Given the description of an element on the screen output the (x, y) to click on. 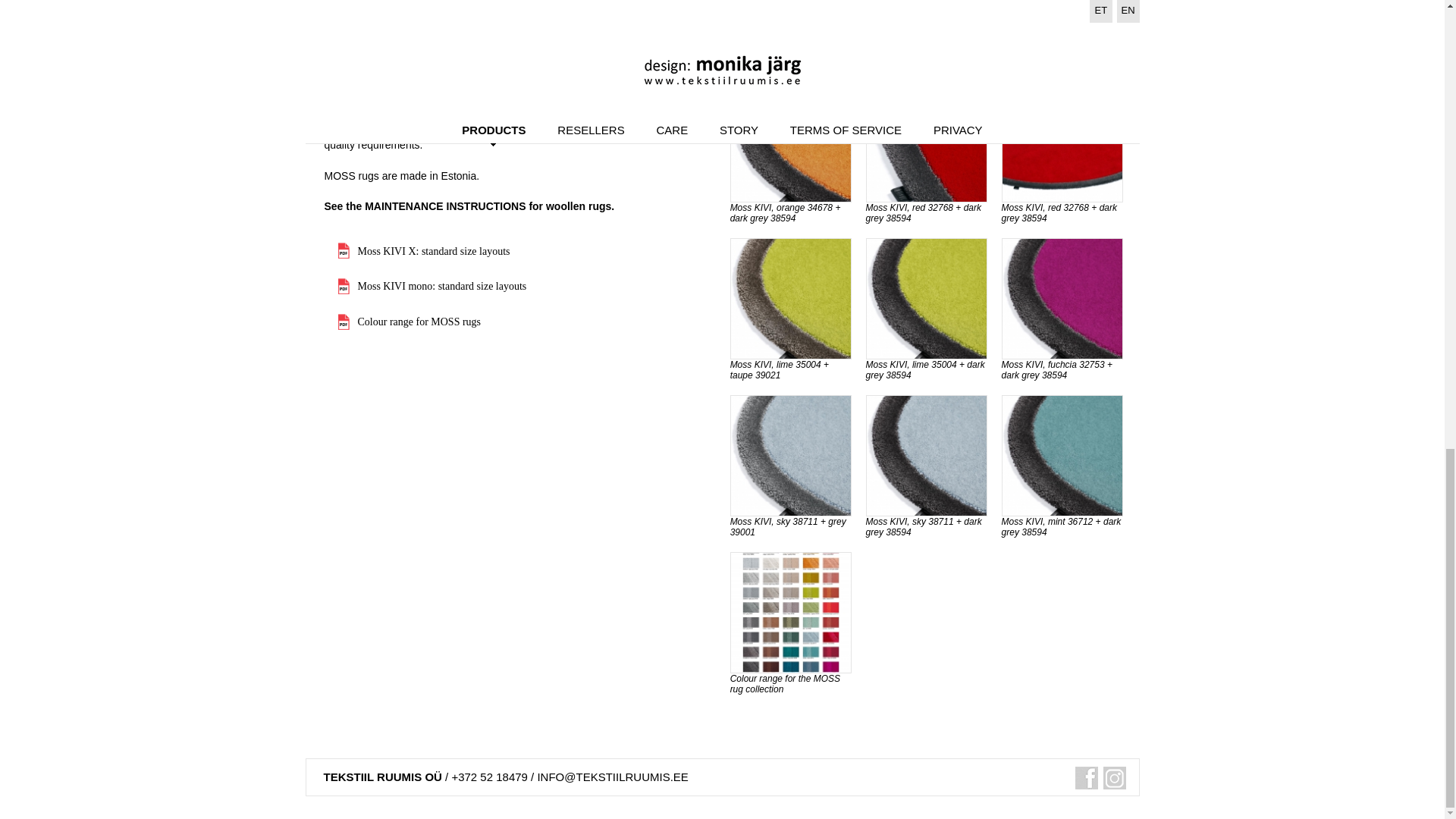
Colour range for MOSS rugs (409, 321)
Moss KIVI mono: standard size layouts (432, 286)
Moss KIVI X: standard size layouts (424, 251)
See the MAINTENANCE INSTRUCTIONS for woollen rugs. (469, 205)
